Given the description of an element on the screen output the (x, y) to click on. 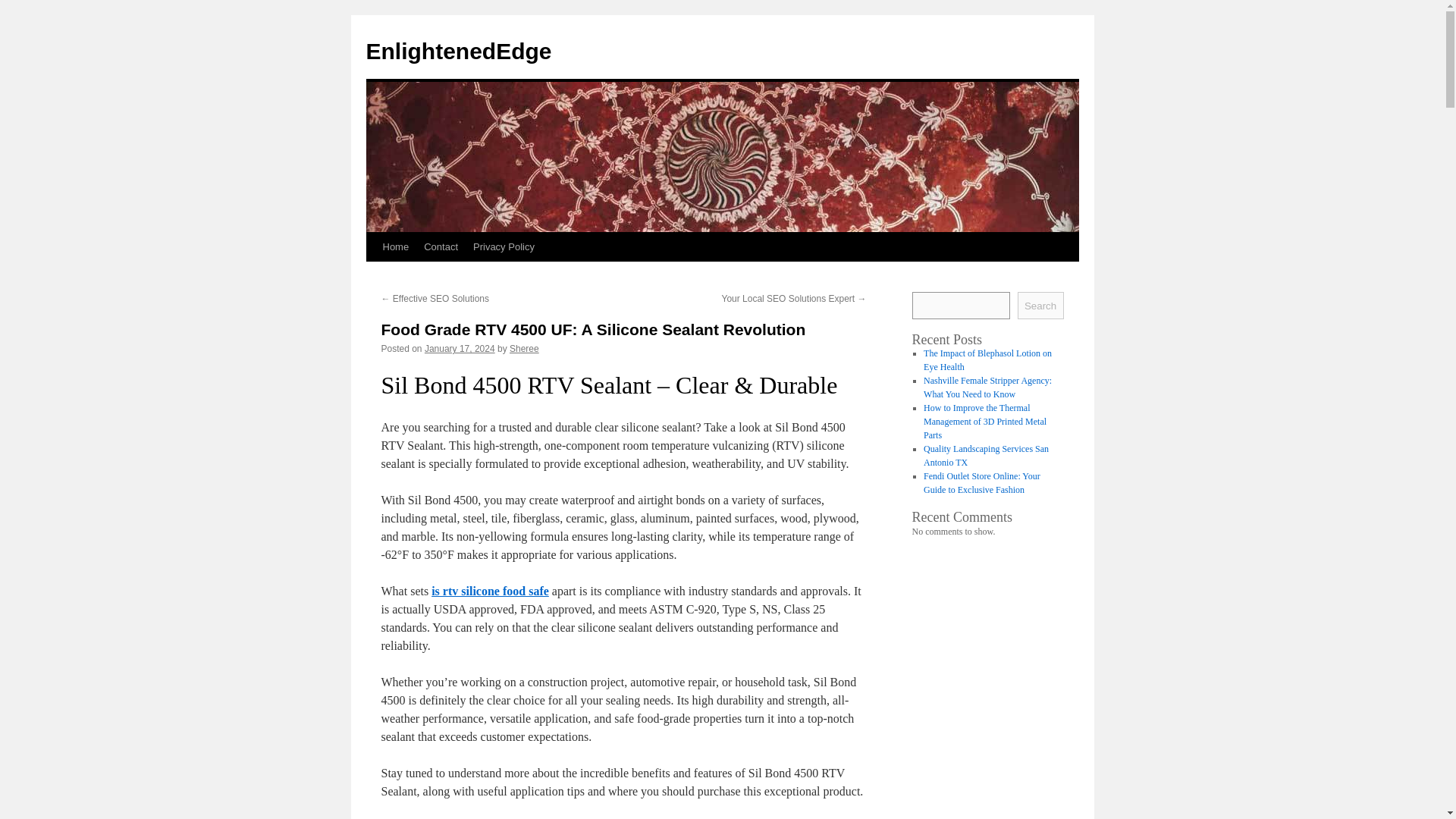
Contact (440, 246)
View all posts by Sheree (523, 348)
Nashville Female Stripper Agency: What You Need to Know (987, 387)
is rtv silicone food safe (489, 590)
January 17, 2024 (460, 348)
Quality Landscaping Services San Antonio TX (985, 455)
Skip to content (372, 274)
Search (1040, 305)
10:25 pm (460, 348)
Privacy Policy (503, 246)
EnlightenedEdge (458, 50)
Sheree (523, 348)
Fendi Outlet Store Online: Your Guide to Exclusive Fashion (982, 482)
Home (395, 246)
